Given the description of an element on the screen output the (x, y) to click on. 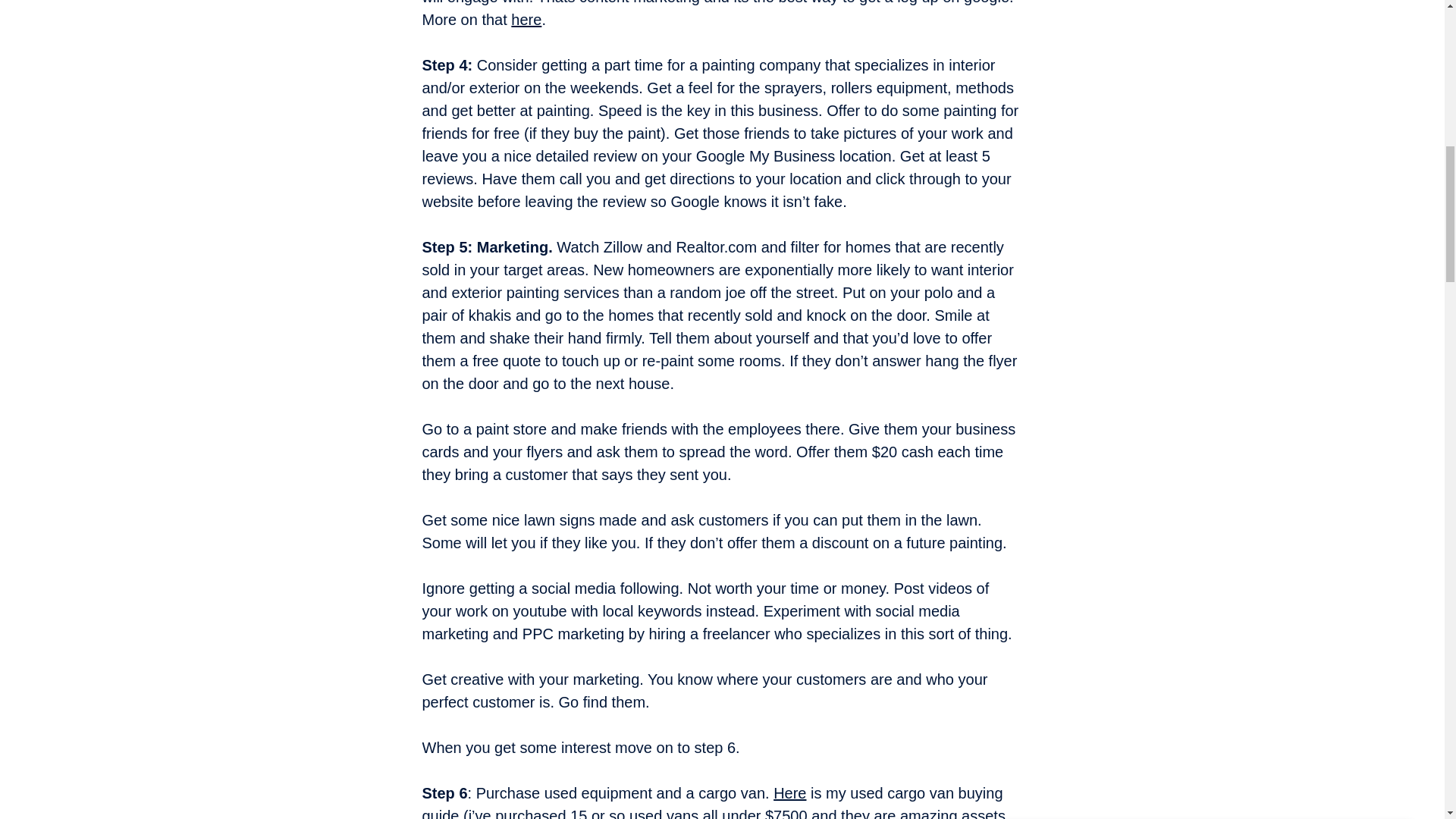
Here (789, 792)
here (526, 19)
